Given the description of an element on the screen output the (x, y) to click on. 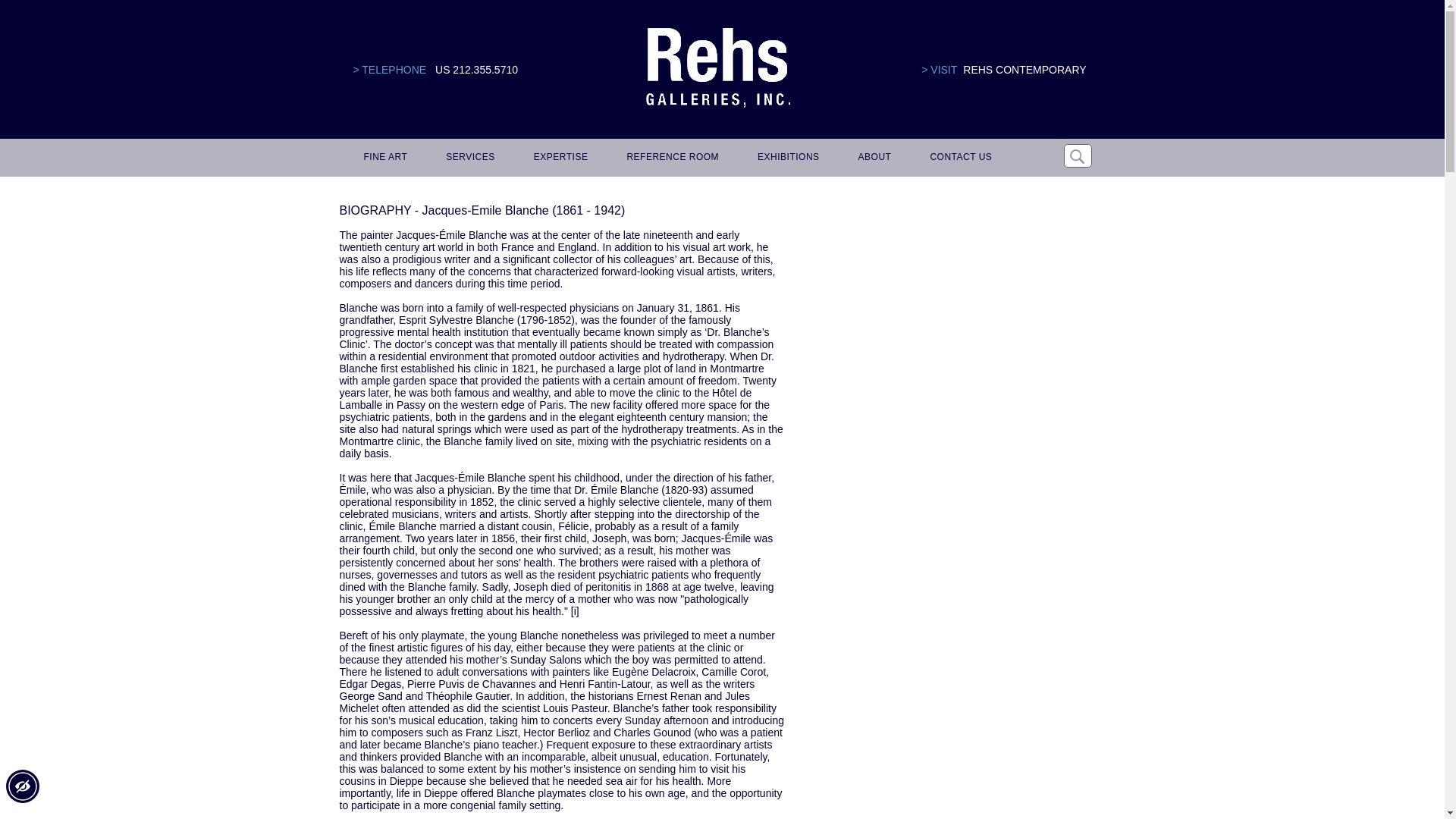
ABOUT (872, 157)
EXPERTISE (558, 157)
EXHIBITIONS (785, 157)
Accessibility Menu (22, 786)
REFERENCE ROOM (670, 157)
CONTACT US (957, 157)
Logo (717, 67)
FINE ART (383, 157)
SERVICES (467, 157)
REHS CONTEMPORARY (1024, 69)
